Given the description of an element on the screen output the (x, y) to click on. 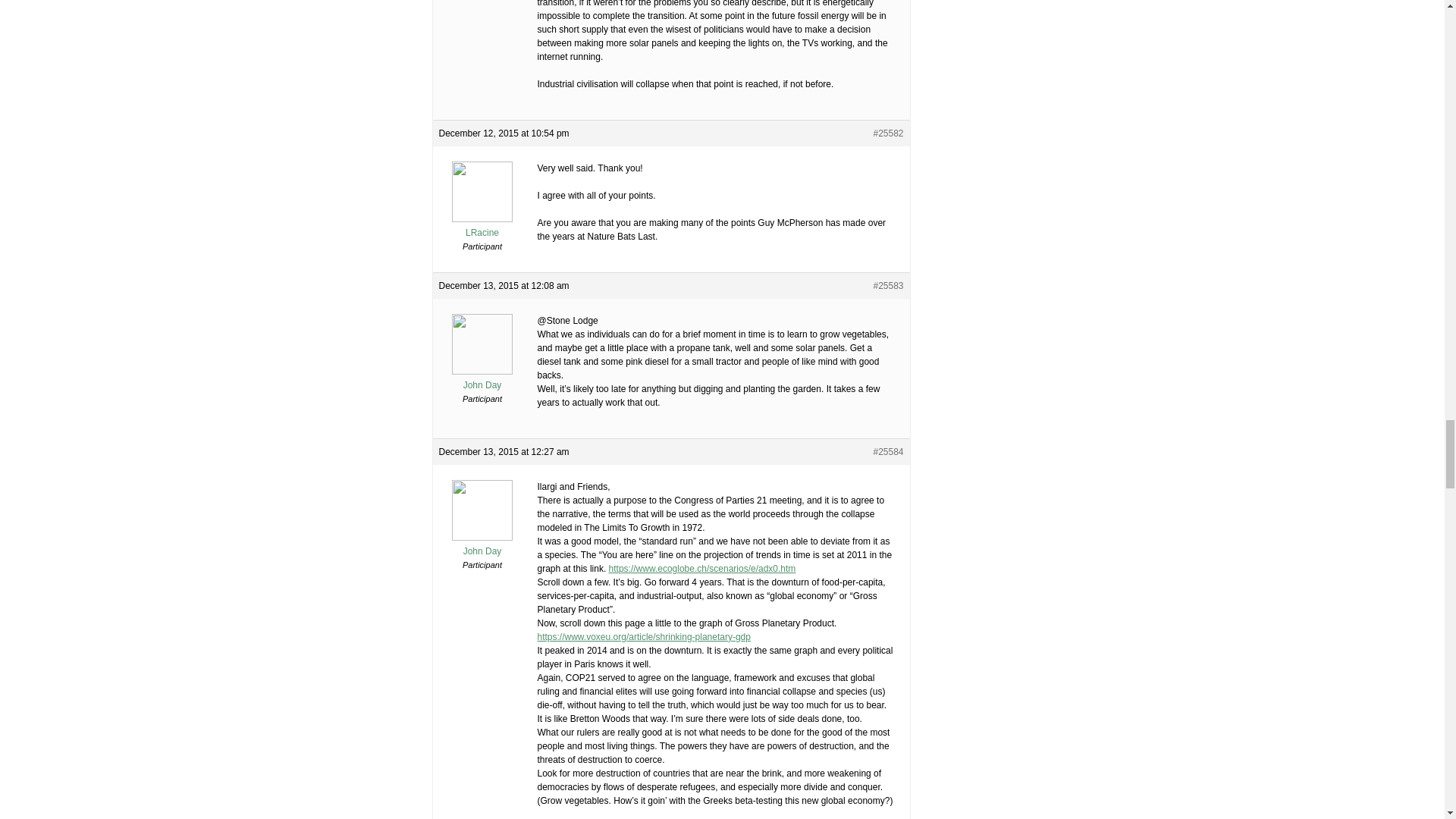
View John Day's profile (481, 379)
View LRacine's profile (481, 226)
View John Day's profile (481, 544)
